Given the description of an element on the screen output the (x, y) to click on. 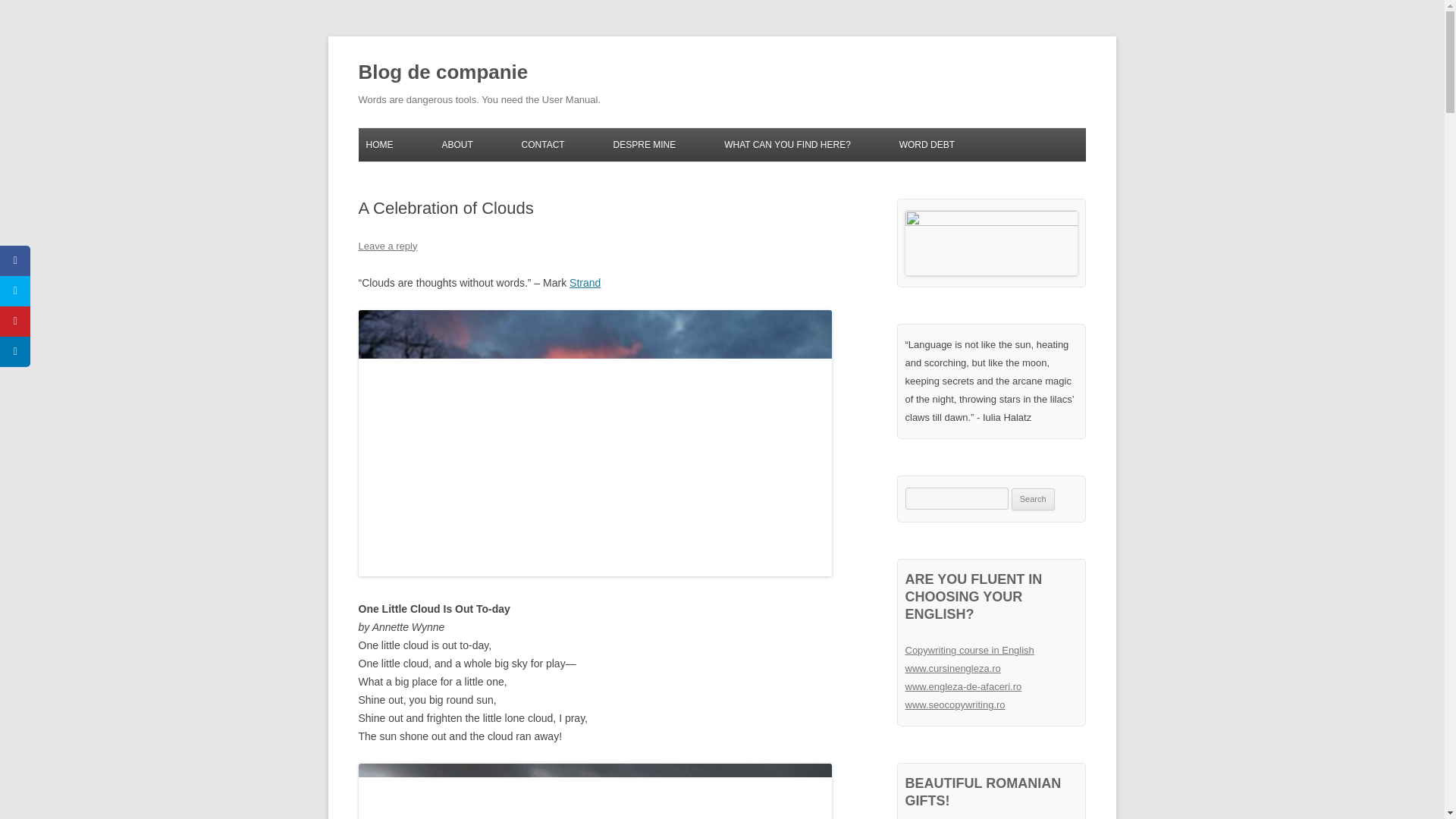
CONTACT (542, 144)
HOME (379, 144)
Strand (584, 282)
www.engleza-de-afaceri.ro (963, 686)
ABOUT (456, 144)
Copywriting course in English (969, 650)
Blog de companie (442, 72)
www.seocopywriting.ro (955, 704)
WHAT CAN YOU FIND HERE? (787, 144)
www.cursinengleza.ro (953, 668)
WORD DEBT (926, 144)
Search (1032, 499)
DESPRE MINE (644, 144)
